Given the description of an element on the screen output the (x, y) to click on. 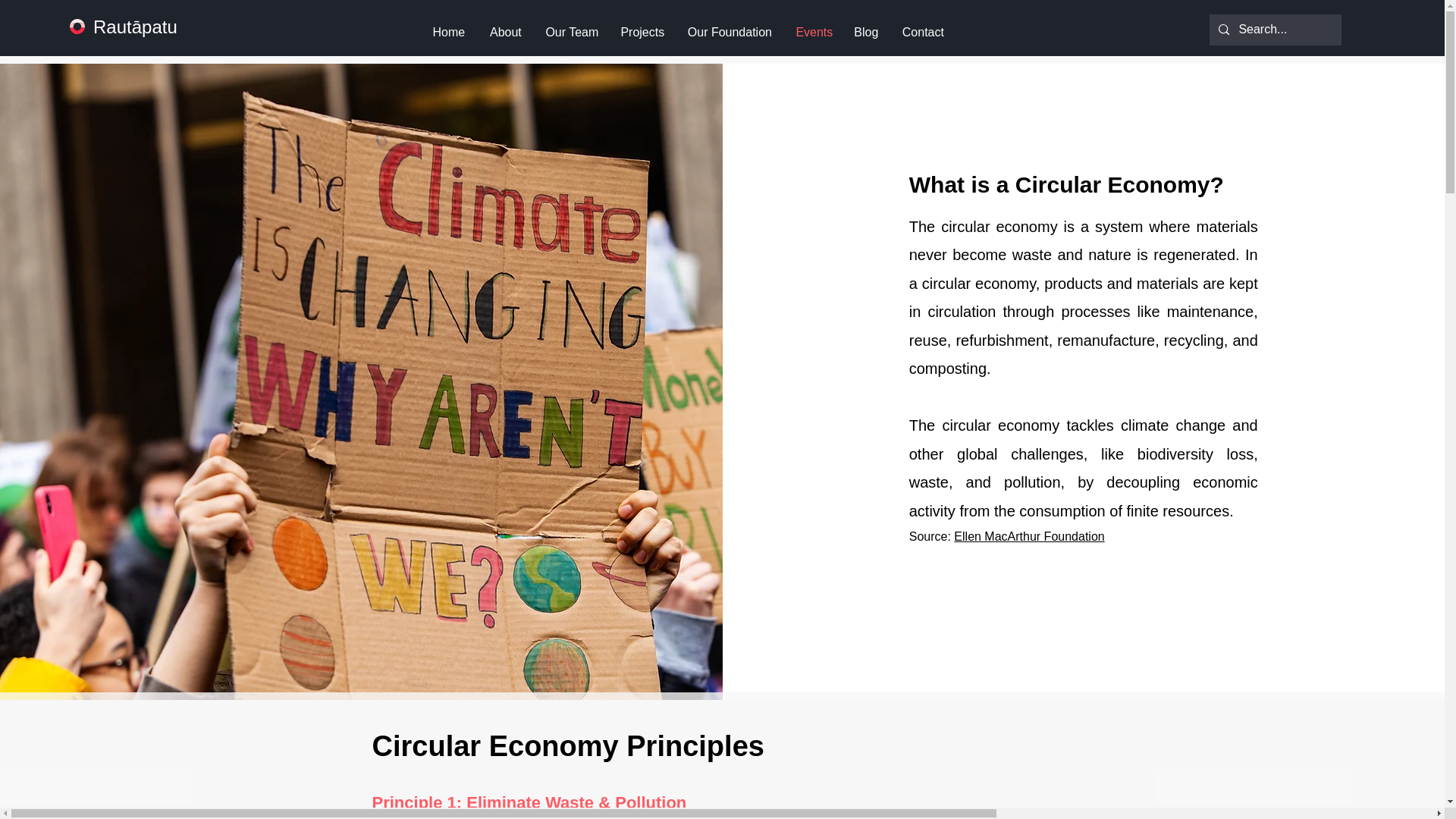
Projects (641, 31)
Our Foundation (729, 31)
Blog (865, 31)
Events (812, 31)
Our Team (571, 31)
Ellen MacArthur Foundation (1028, 535)
About (505, 31)
Contact (922, 31)
Home (448, 31)
